Given the description of an element on the screen output the (x, y) to click on. 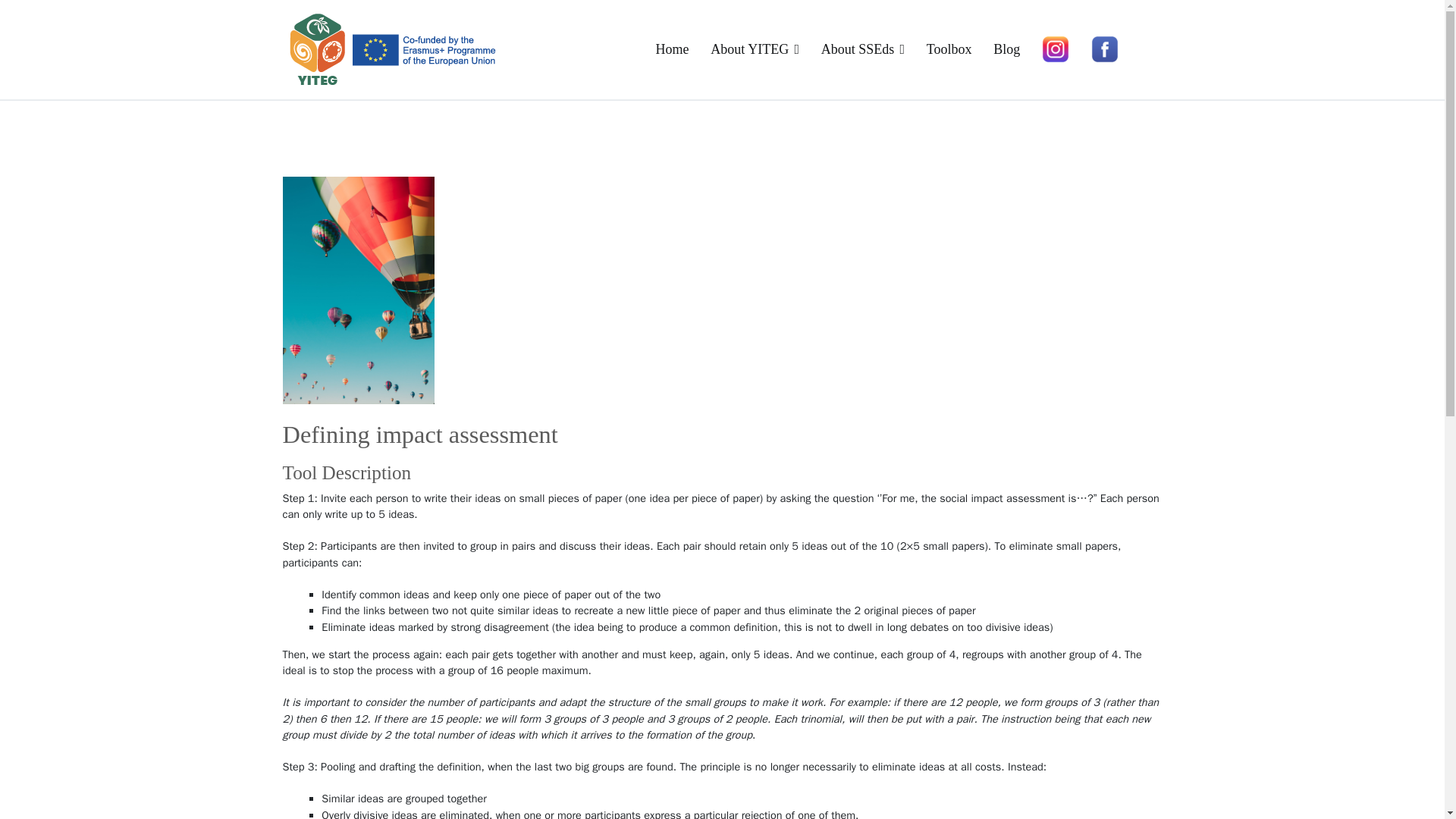
SSEds (537, 59)
Toolbox (949, 49)
Blog (1006, 49)
Home (672, 49)
About YITEG (754, 49)
About SSEds (862, 49)
